Given the description of an element on the screen output the (x, y) to click on. 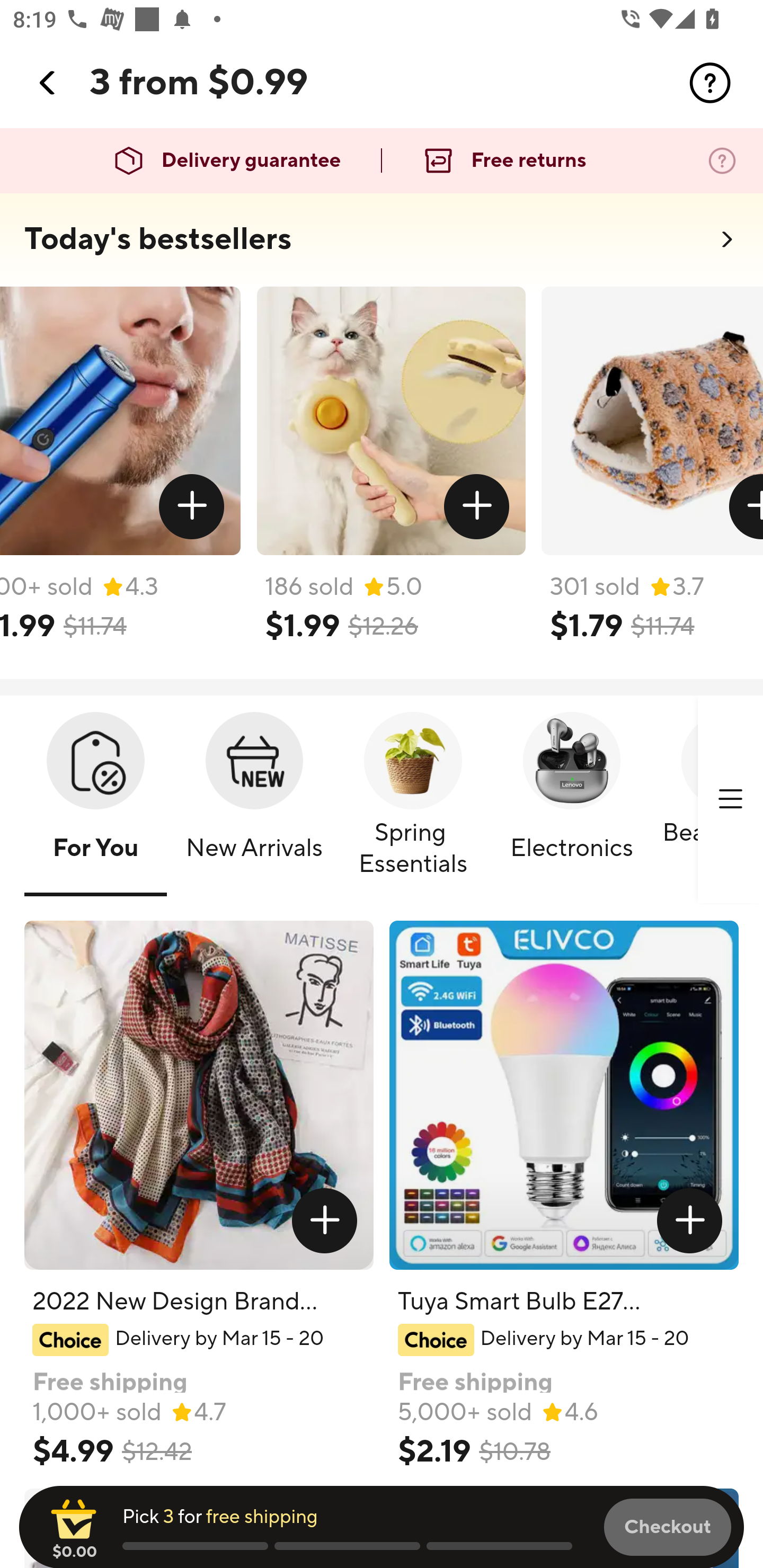
 (710, 82)
 (48, 82)
Today's bestsellers  Today's bestsellers  (381, 244)
Today's bestsellers (157, 239)
 (191, 506)
 (476, 506)
 (745, 506)
 (730, 799)
144x144.png_ For You (95, 800)
144x144.png_ New Arrivals (254, 800)
200x200.png_ Spring Essentials (412, 800)
300x300.png_ Electronics (571, 800)
 (323, 1220)
 (689, 1220)
